Given the description of an element on the screen output the (x, y) to click on. 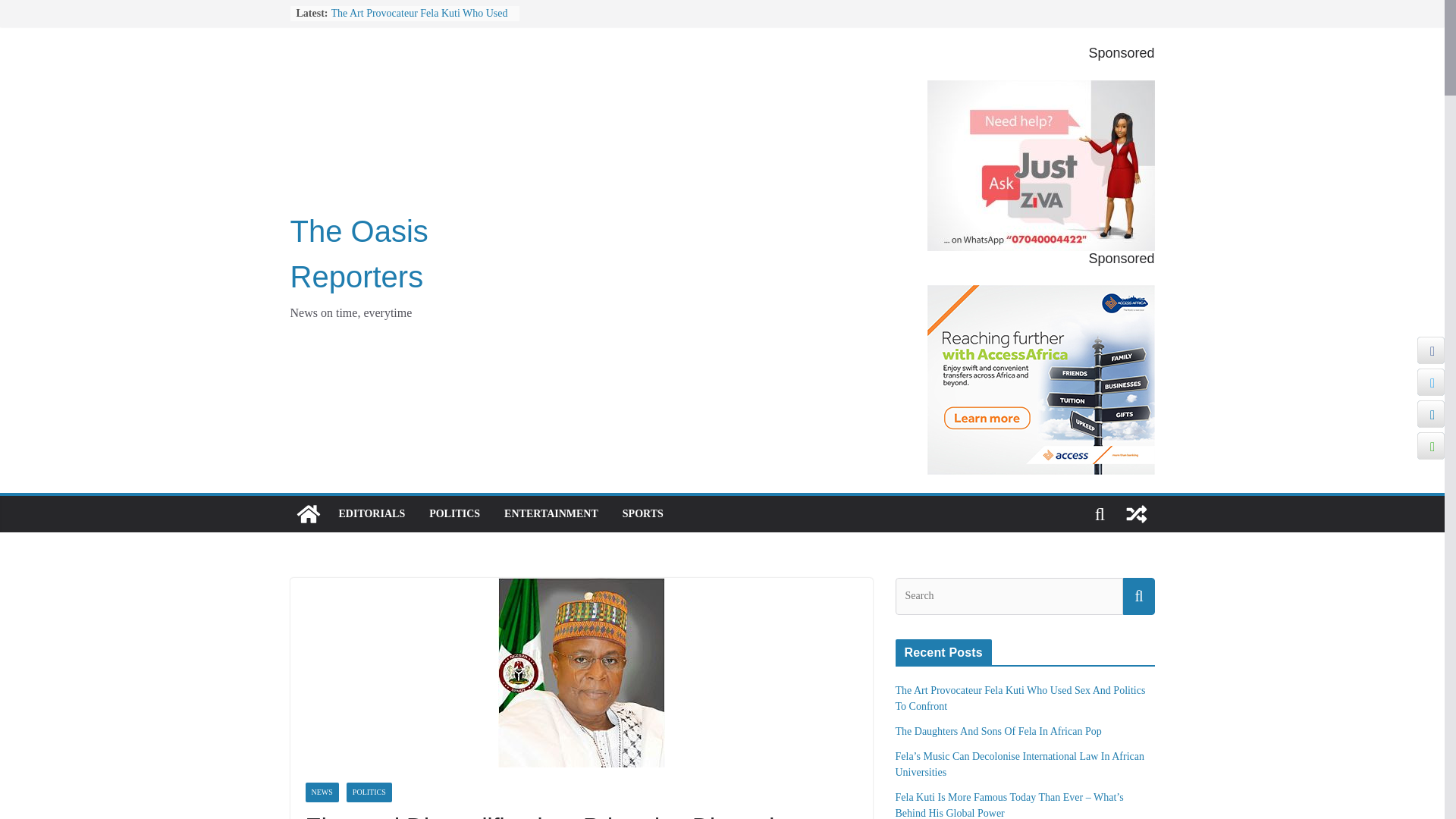
POLITICS (368, 792)
SPORTS (643, 513)
The Oasis Reporters (307, 514)
NEWS (320, 792)
EDITORIALS (370, 513)
ENTERTAINMENT (550, 513)
POLITICS (454, 513)
The Oasis Reporters (358, 253)
The Oasis Reporters (358, 253)
View a random post (1136, 514)
